Given the description of an element on the screen output the (x, y) to click on. 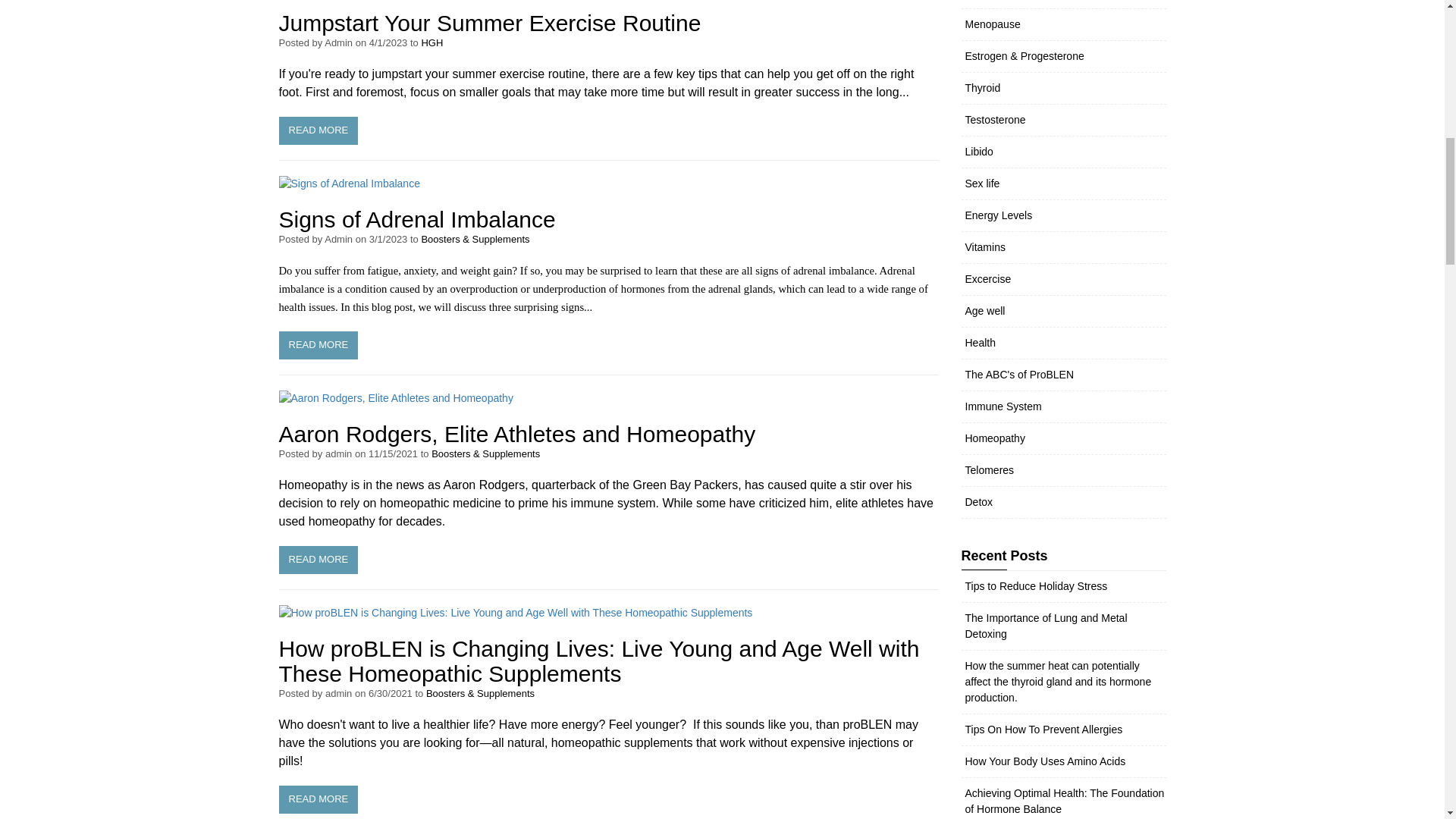
Aaron Rodgers, Elite Athletes and Homeopathy (517, 433)
Signs of Adrenal Imbalance (417, 219)
Jumpstart Your Summer Exercise Routine (490, 23)
Aaron Rodgers, Elite Athletes and Homeopathy (318, 560)
Signs of Adrenal Imbalance (318, 345)
Jumpstart Your Summer Exercise Routine (318, 130)
